Given the description of an element on the screen output the (x, y) to click on. 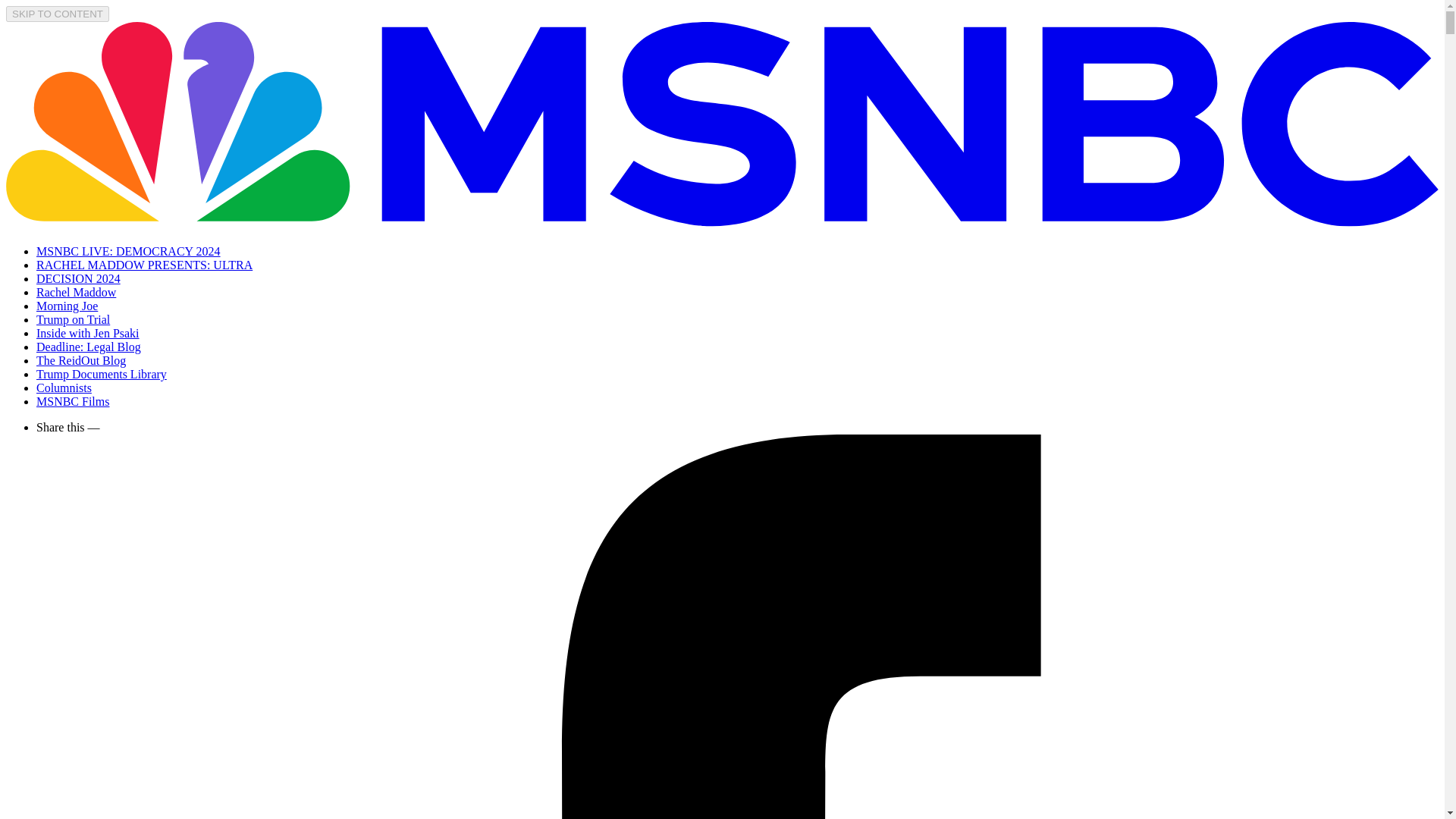
Trump on Trial (73, 318)
The ReidOut Blog (80, 359)
MSNBC LIVE: DEMOCRACY 2024 (128, 250)
RACHEL MADDOW PRESENTS: ULTRA (143, 264)
Morning Joe (66, 305)
DECISION 2024 (78, 278)
MSNBC Films (72, 400)
Deadline: Legal Blog (88, 346)
SKIP TO CONTENT (57, 13)
Columnists (63, 387)
Trump Documents Library (101, 373)
Rachel Maddow (76, 291)
Inside with Jen Psaki (87, 332)
